Given the description of an element on the screen output the (x, y) to click on. 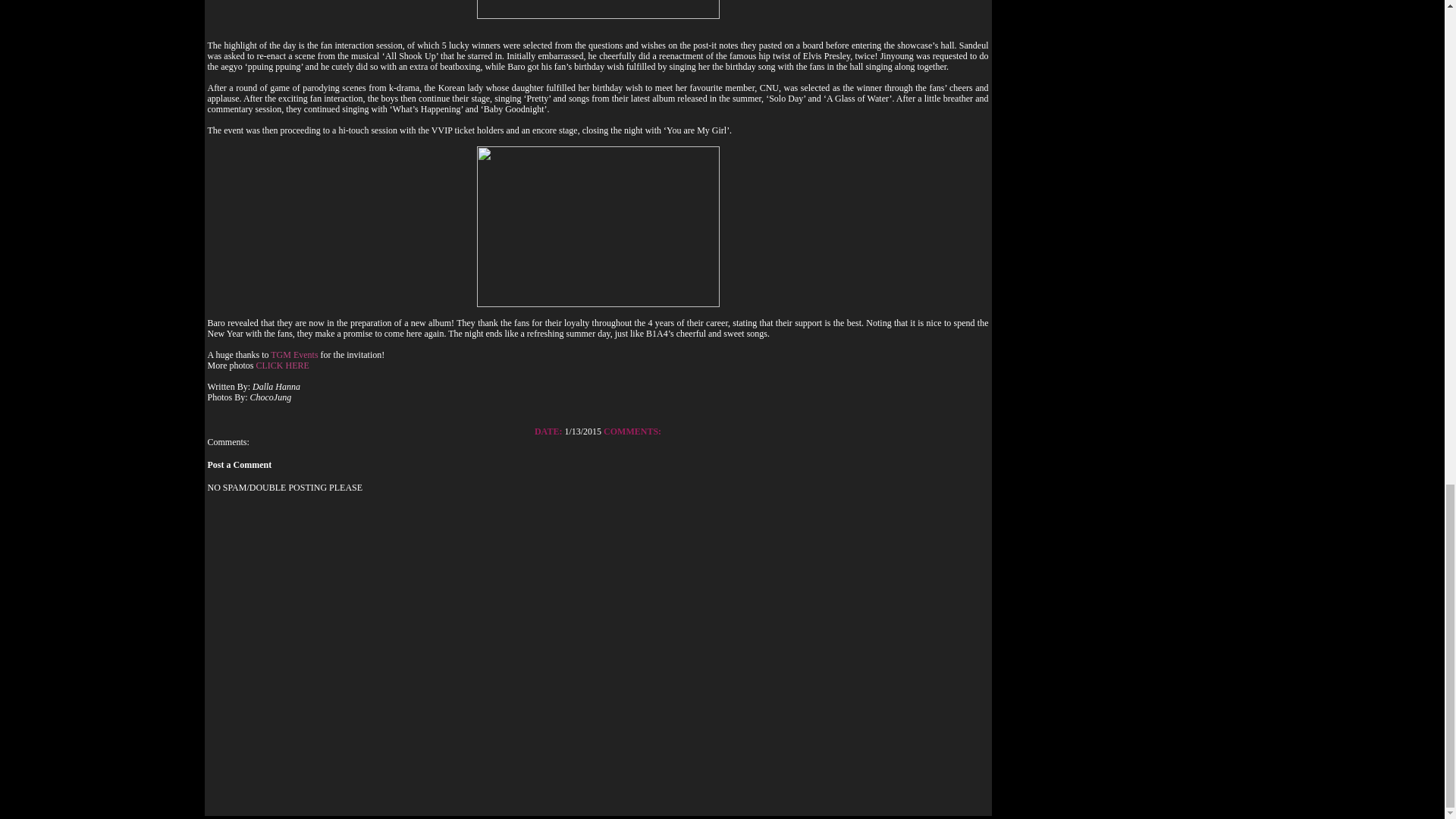
TGM Events (293, 354)
CLICK HERE (282, 365)
